Given the description of an element on the screen output the (x, y) to click on. 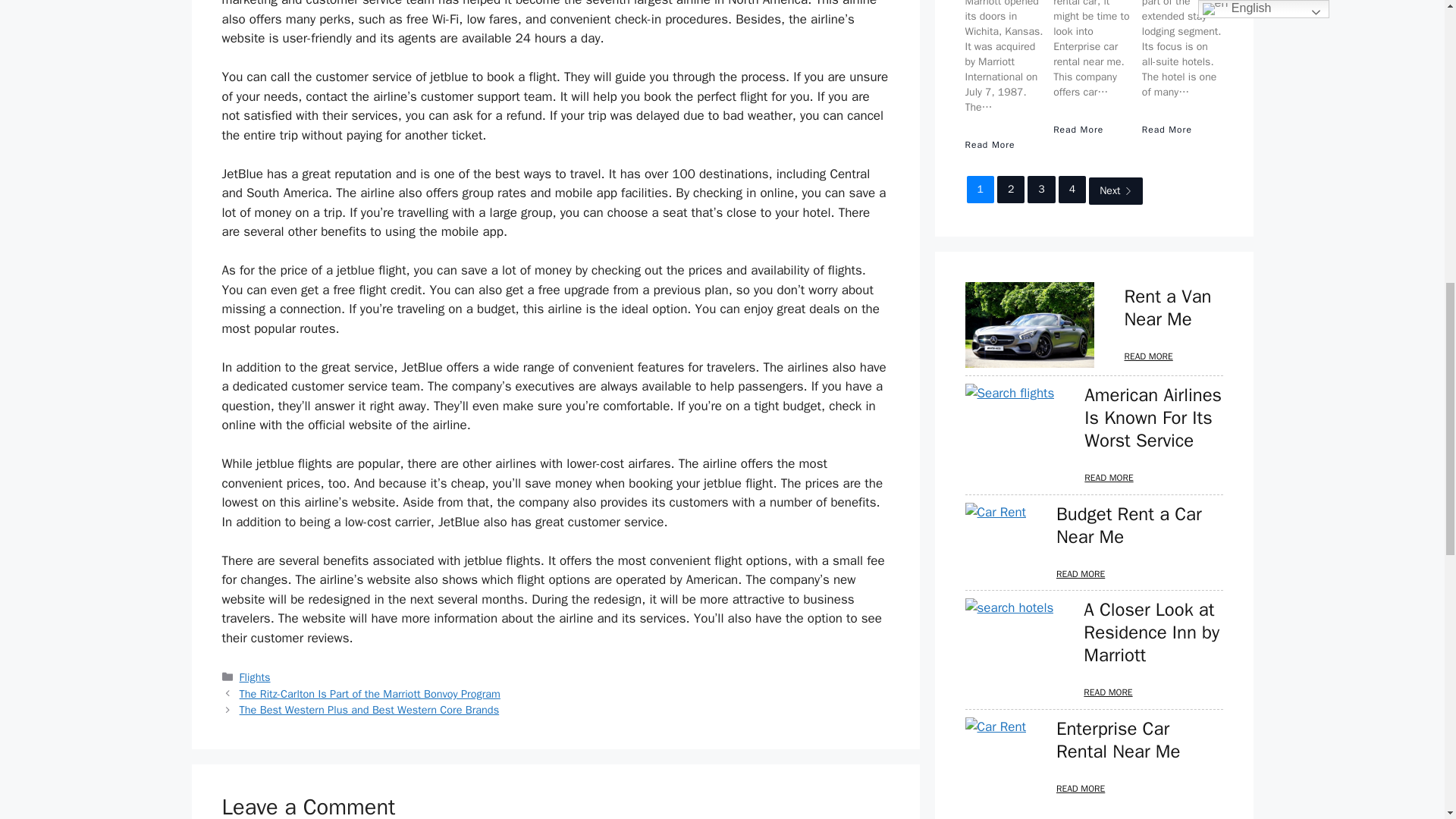
Read More (1077, 129)
2 (1011, 189)
1 (979, 189)
Read More (1166, 129)
The Ritz-Carlton Is Part of the Marriott Bonvoy Program (370, 694)
The Best Western Plus and Best Western Core Brands (369, 709)
Flights (255, 676)
Scroll back to top (1406, 720)
Read More (988, 144)
